Given the description of an element on the screen output the (x, y) to click on. 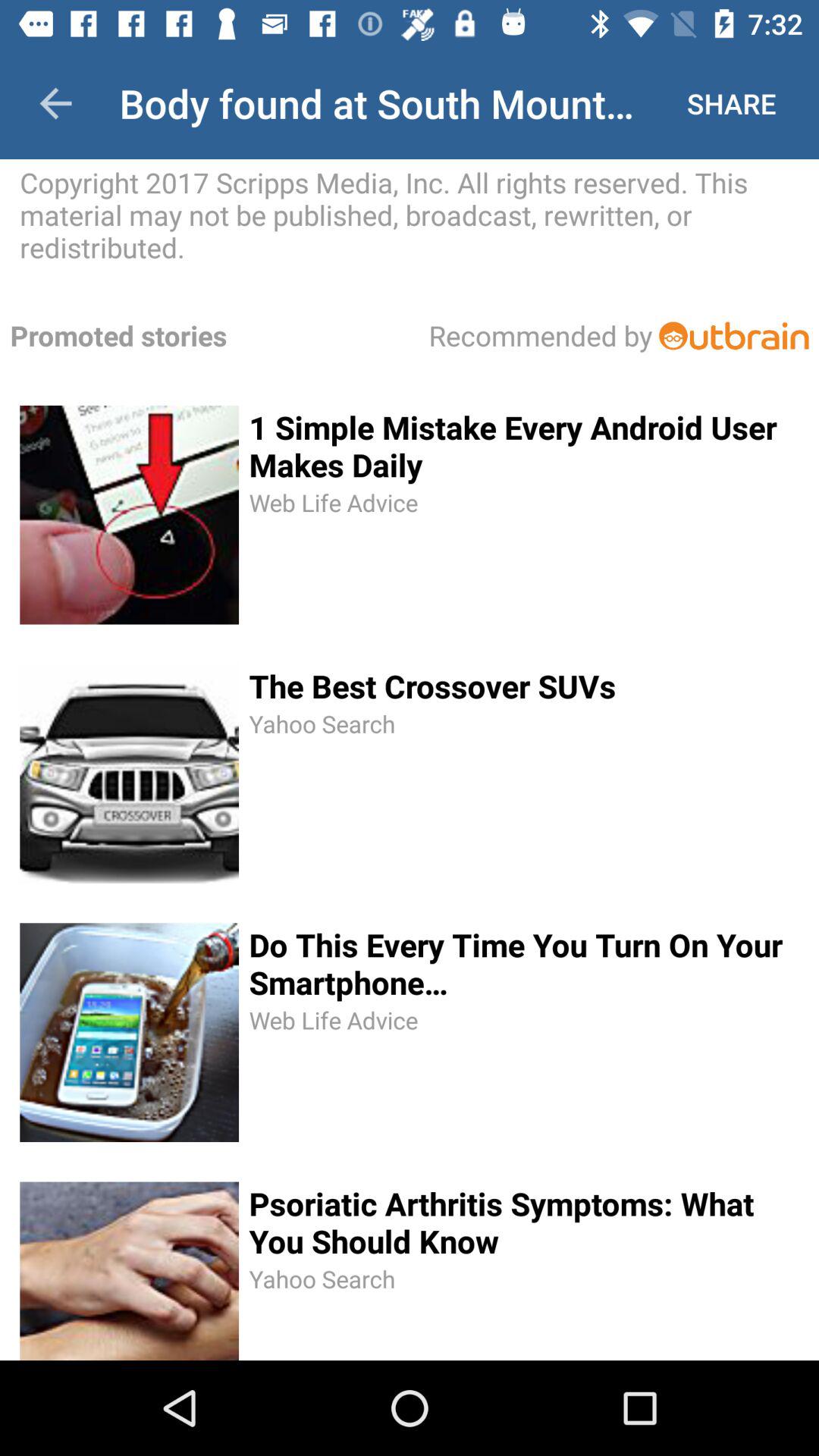
choose the app next to body found at icon (55, 103)
